Given the description of an element on the screen output the (x, y) to click on. 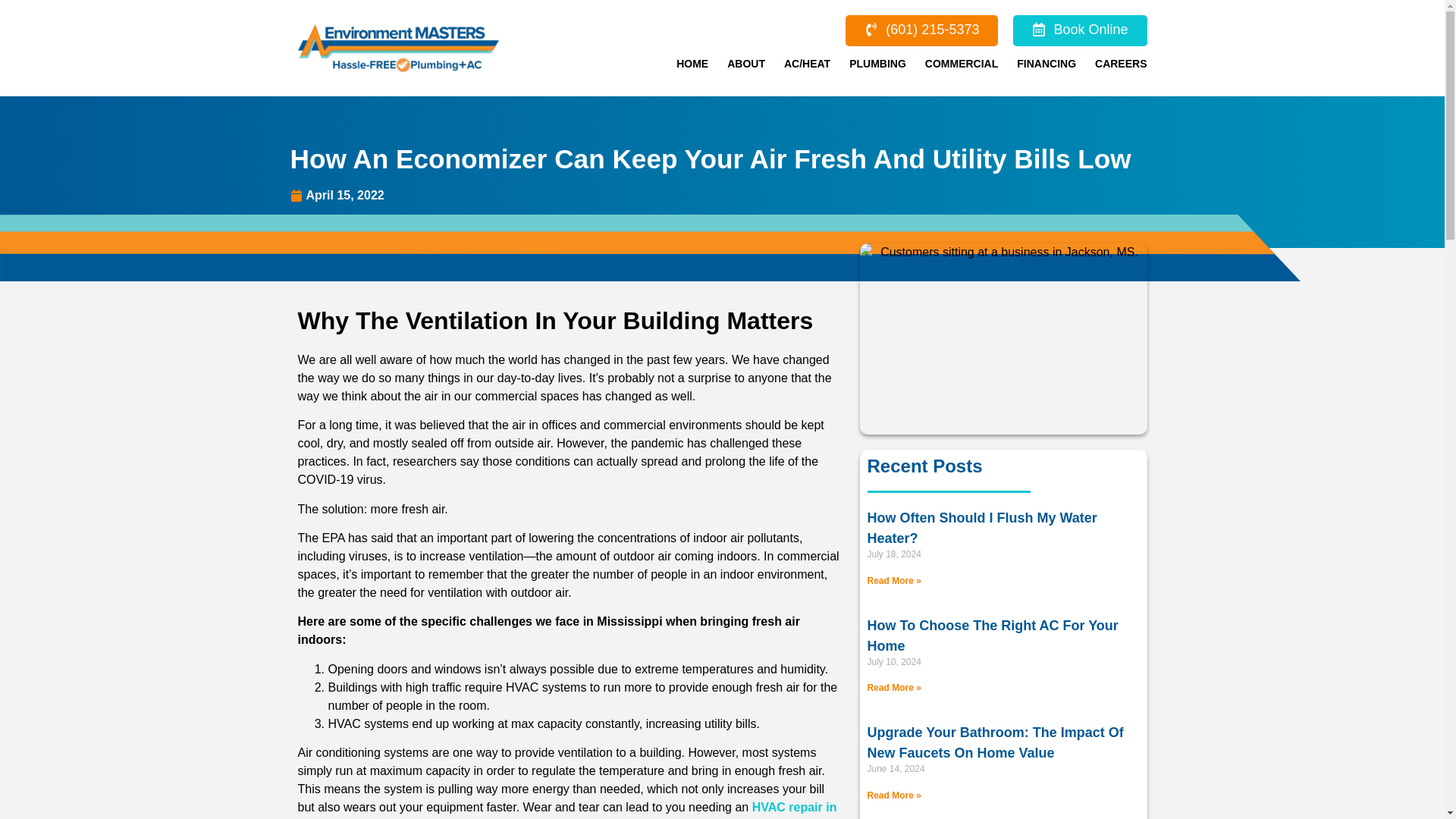
Book Online (1080, 30)
ABOUT (745, 63)
HOME (692, 63)
